Given the description of an element on the screen output the (x, y) to click on. 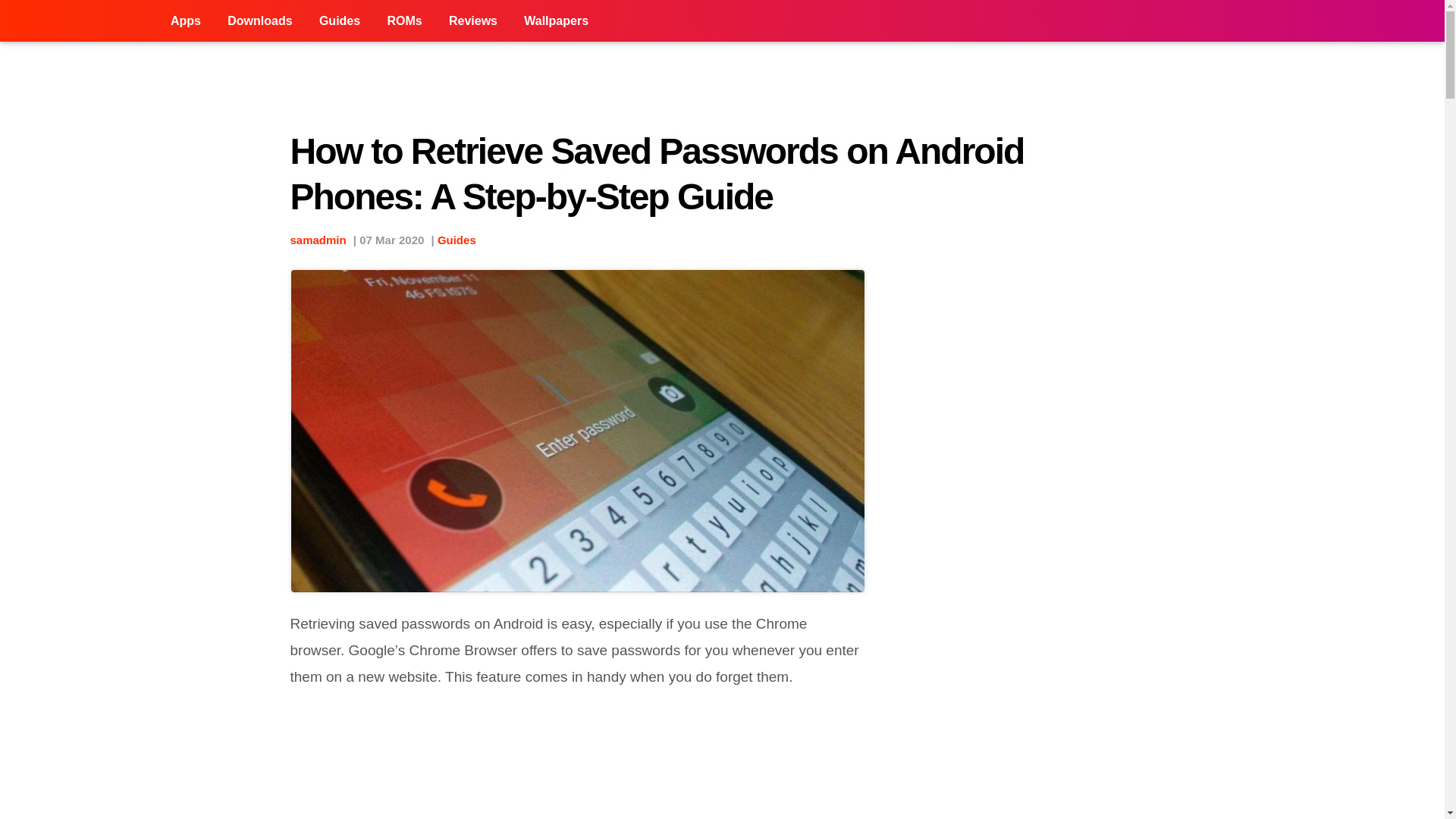
Reviews (473, 20)
Wallpapers (555, 20)
Apps (185, 20)
ROMs (403, 20)
Downloads (258, 20)
DroidViews (79, 20)
Guides (339, 20)
samadmin (317, 239)
Guides (457, 239)
